Given the description of an element on the screen output the (x, y) to click on. 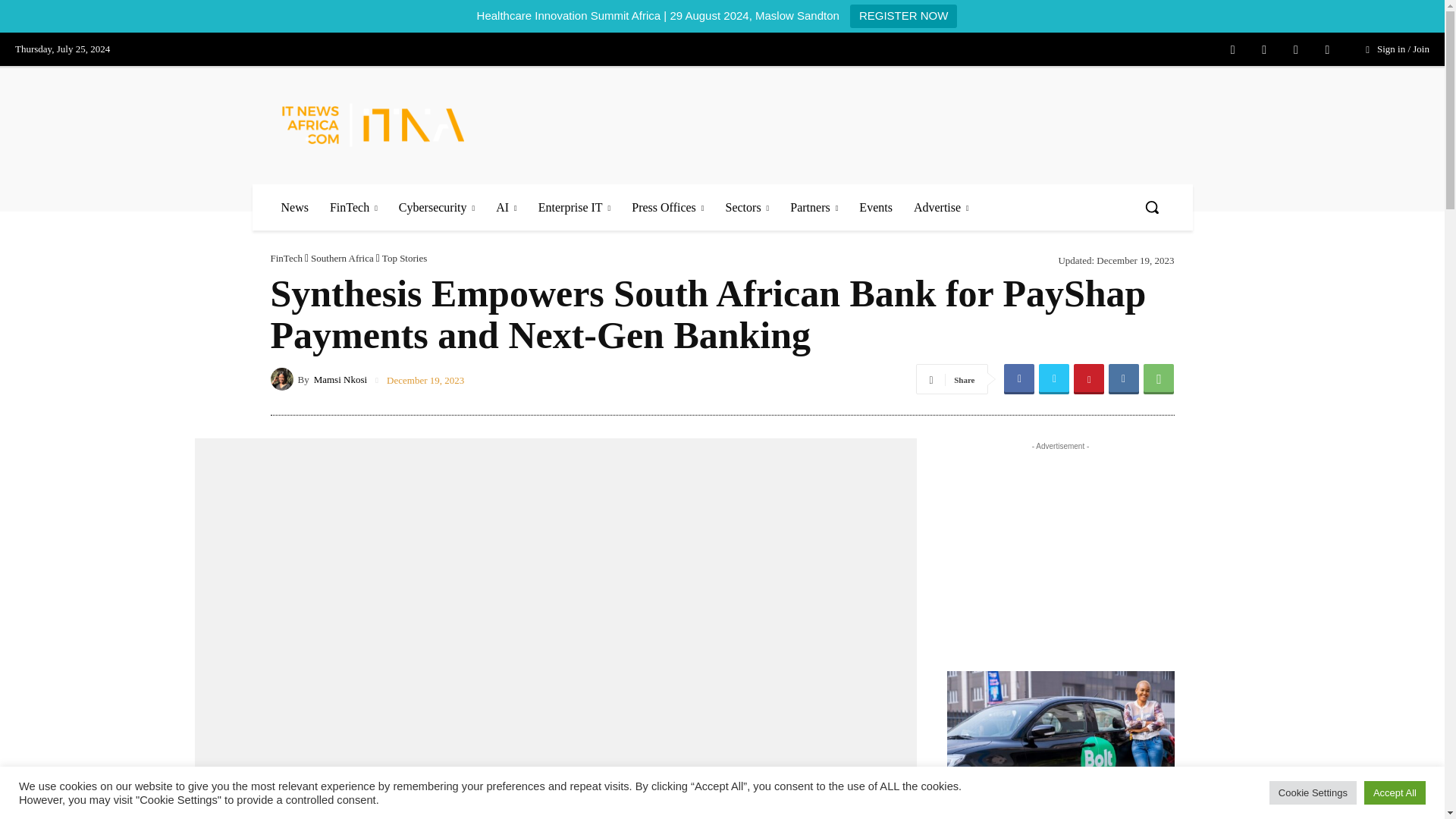
REGISTER NOW (904, 15)
Youtube (1327, 50)
Facebook (1233, 50)
Twitter (1295, 50)
Instagram (1263, 50)
IT News Africa (373, 124)
News (293, 207)
FinTech (353, 207)
IT News Africa (392, 124)
